Given the description of an element on the screen output the (x, y) to click on. 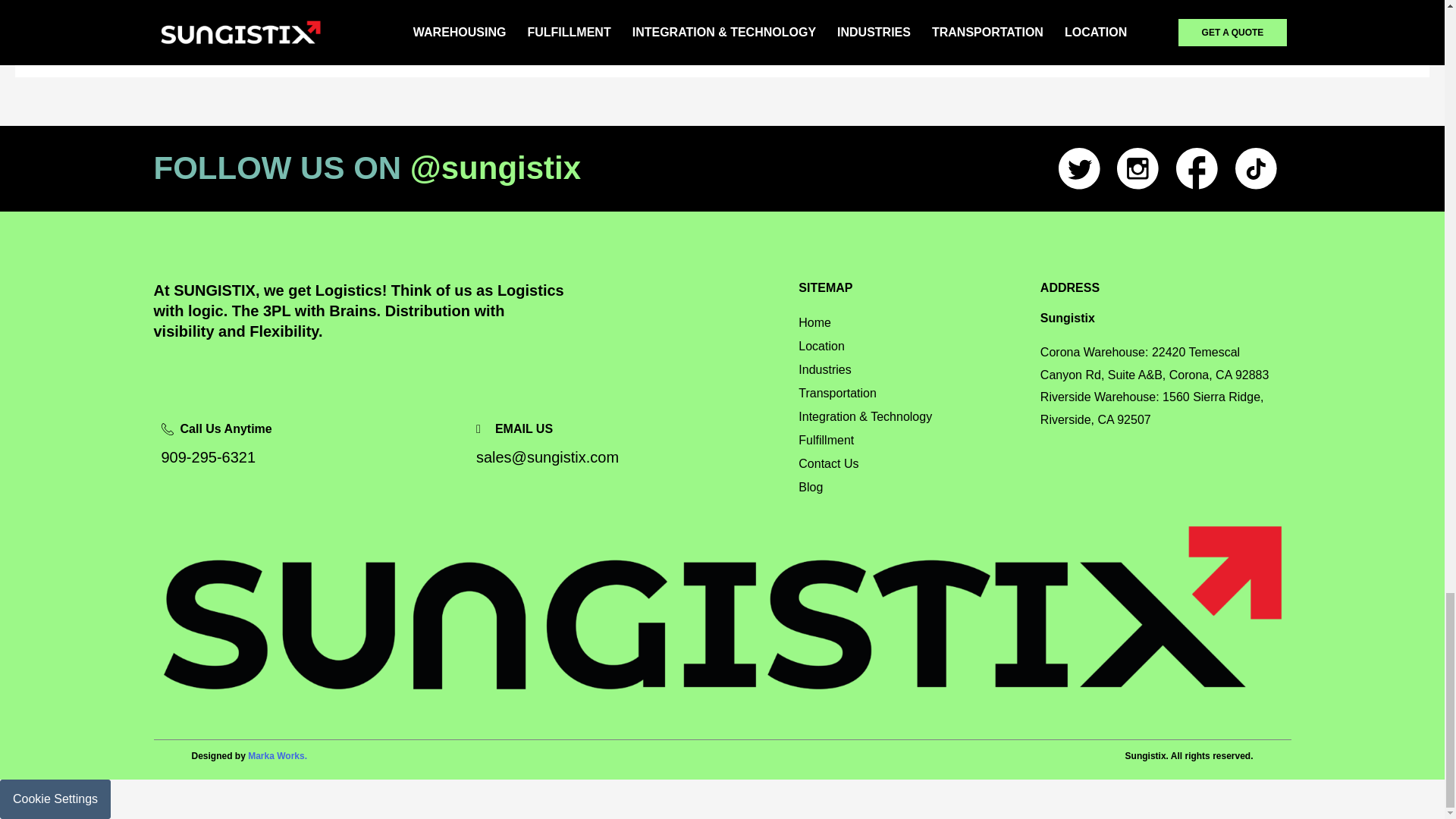
Home (911, 322)
Call Us Anytime (310, 428)
909-295-6321 (310, 457)
EMAIL US (626, 428)
Location (911, 345)
